Given the description of an element on the screen output the (x, y) to click on. 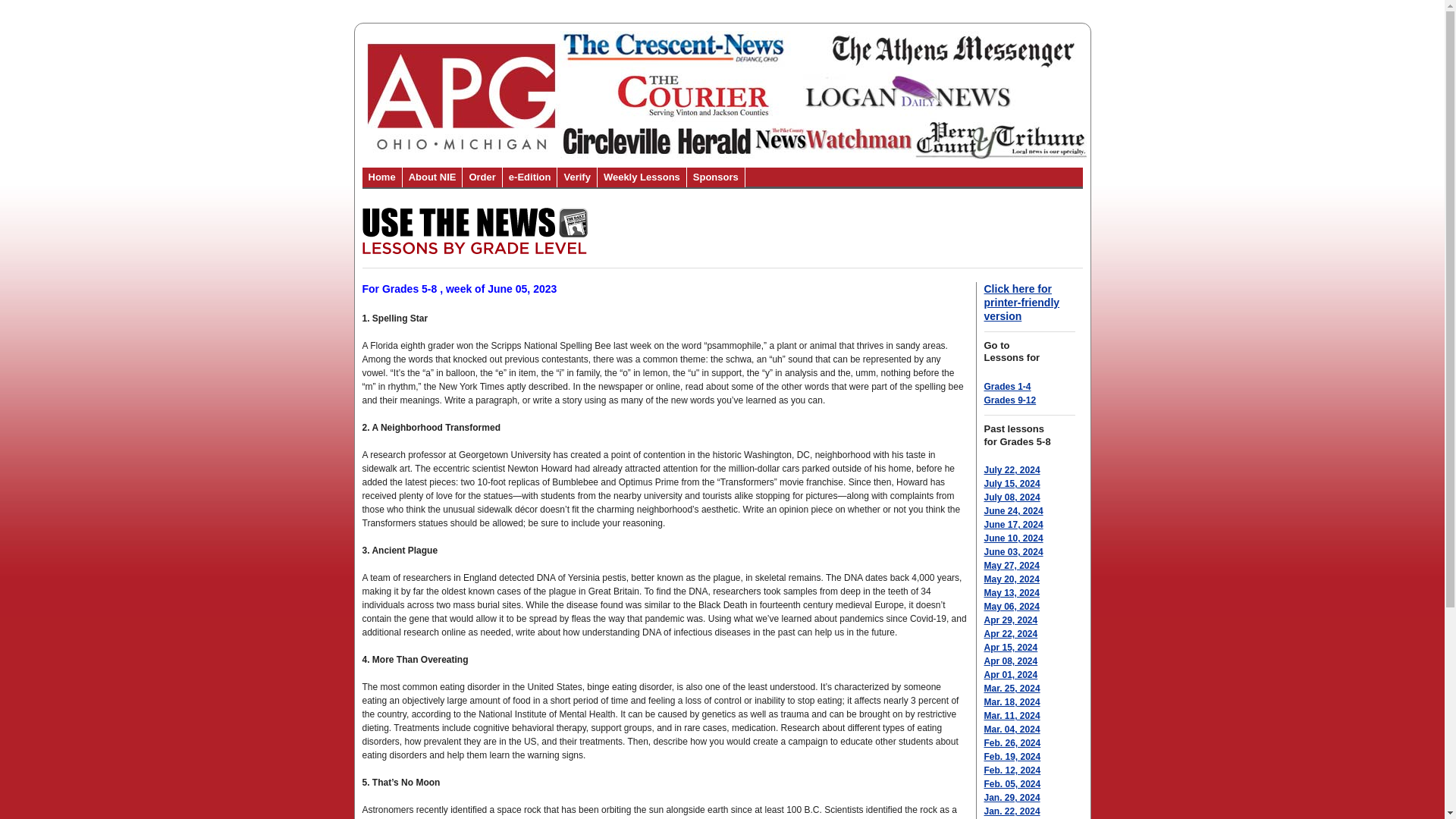
Apr 22, 2024 (1011, 633)
May 13, 2024 (1011, 593)
May 27, 2024 (1011, 565)
May 06, 2024 (1011, 606)
Apr 29, 2024 (1011, 620)
July 22, 2024 (1012, 470)
July 08, 2024 (1012, 497)
Order (481, 177)
Verify (576, 177)
Sponsors (715, 177)
June 03, 2024 (1013, 552)
Click here for printer-friendly version (1021, 302)
June 17, 2024 (1013, 524)
June 24, 2024 (1013, 511)
e-Edition (529, 177)
